Given the description of an element on the screen output the (x, y) to click on. 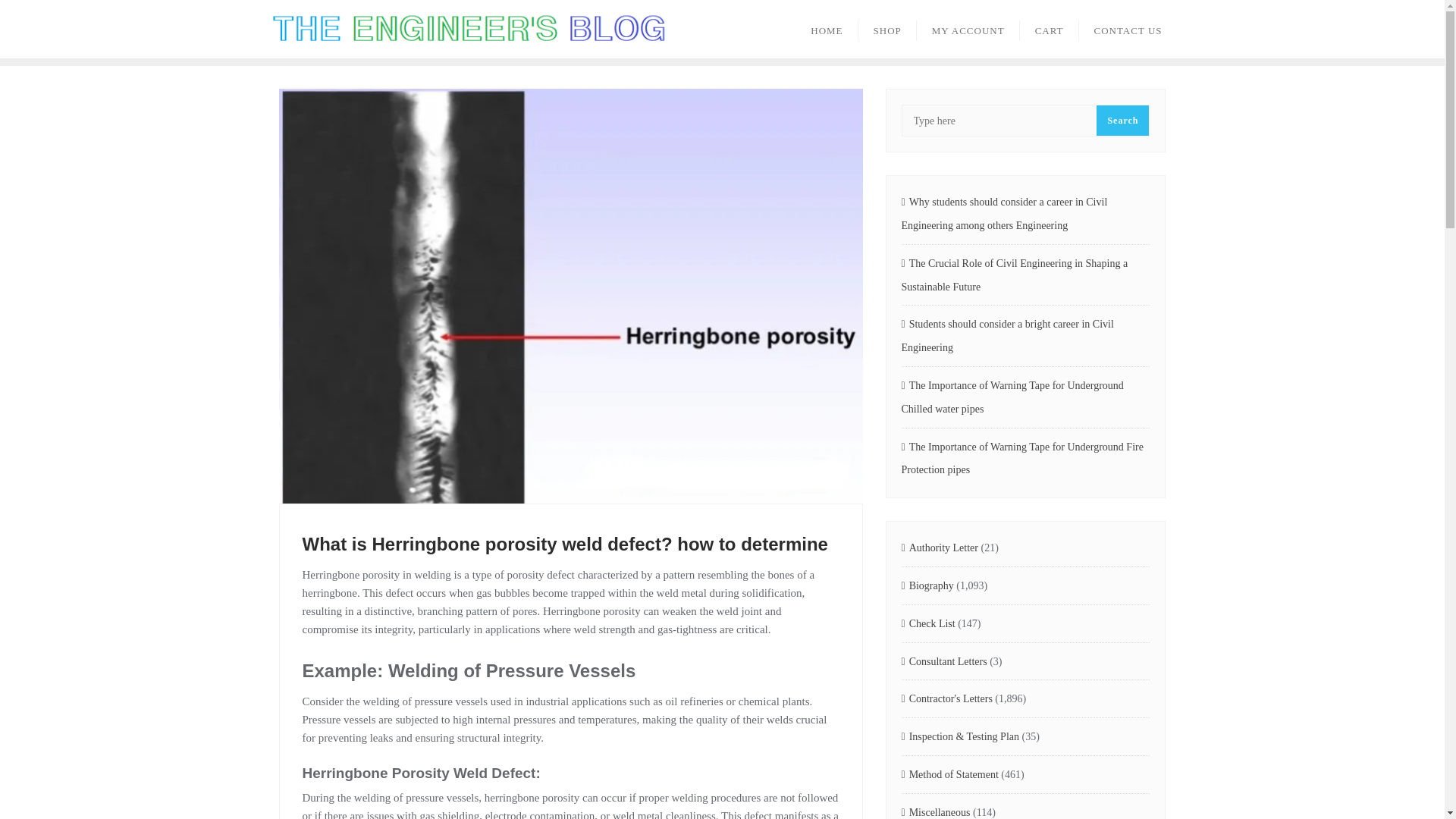
Method of Statement (949, 775)
MY ACCOUNT (968, 29)
Contractor's Letters (946, 699)
Check List (928, 624)
HOME (825, 29)
SHOP (888, 29)
